Given the description of an element on the screen output the (x, y) to click on. 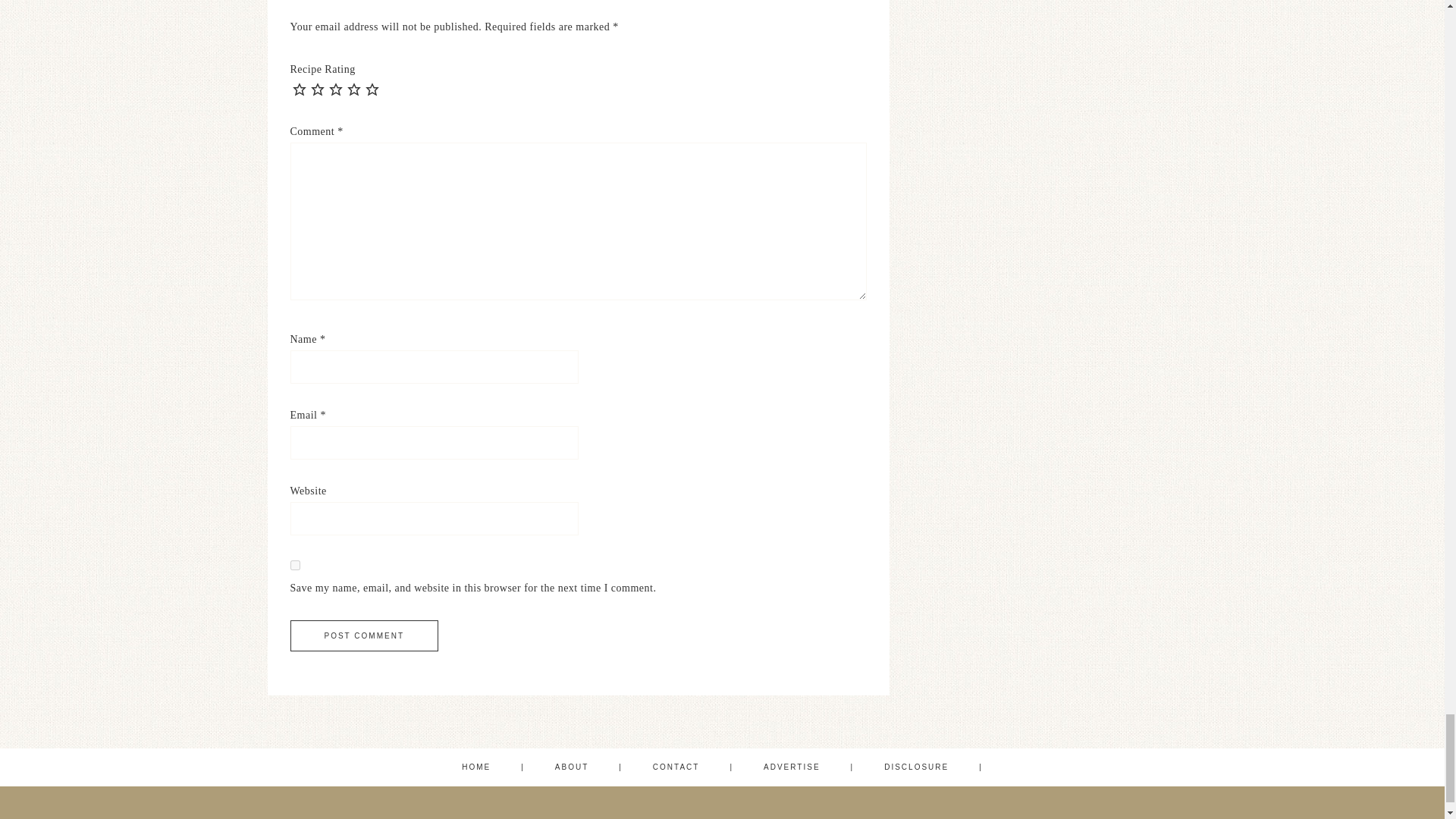
Post Comment (363, 635)
yes (294, 565)
